Given the description of an element on the screen output the (x, y) to click on. 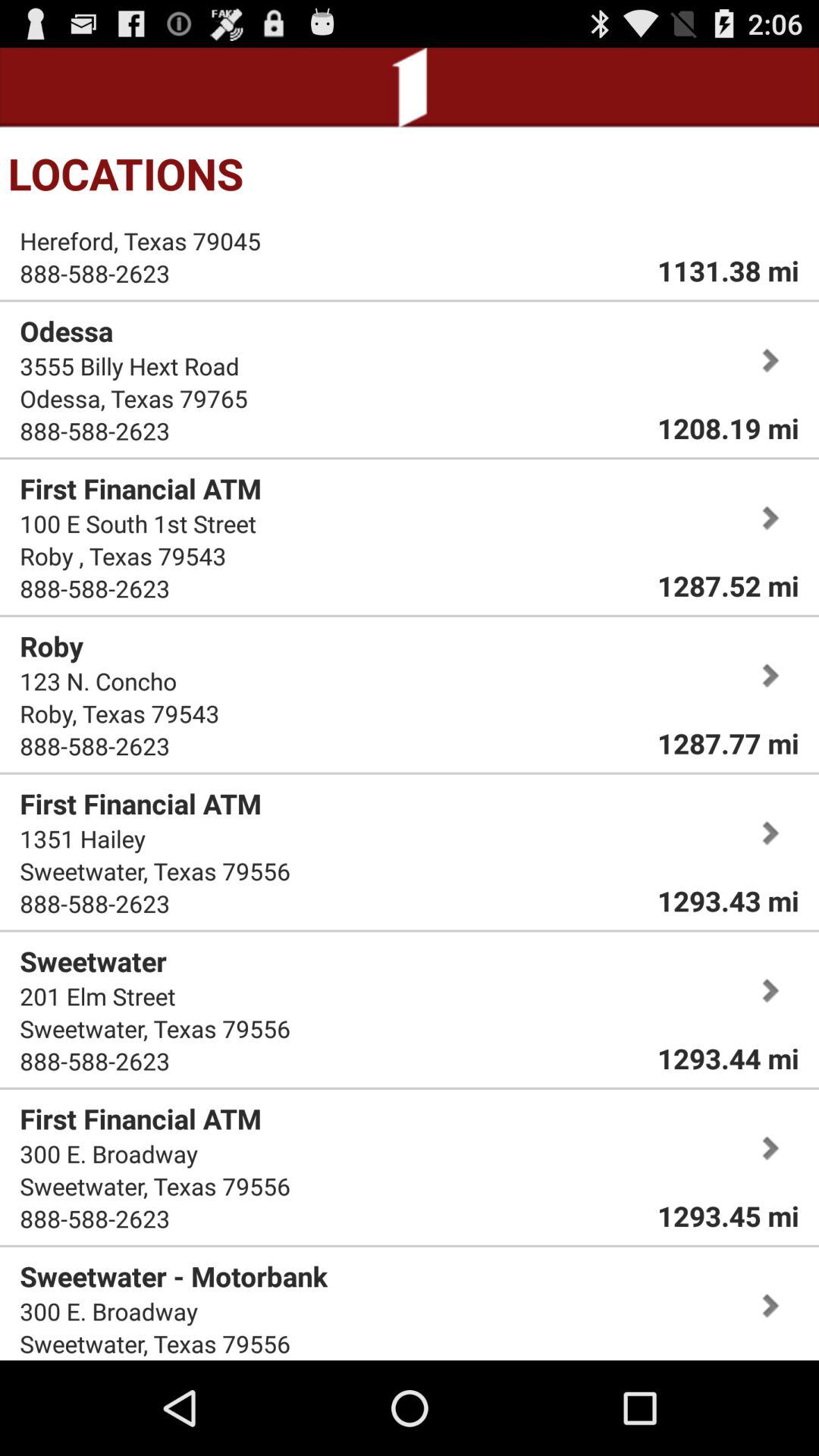
swipe to sweetwater - motorbank icon (173, 1276)
